Given the description of an element on the screen output the (x, y) to click on. 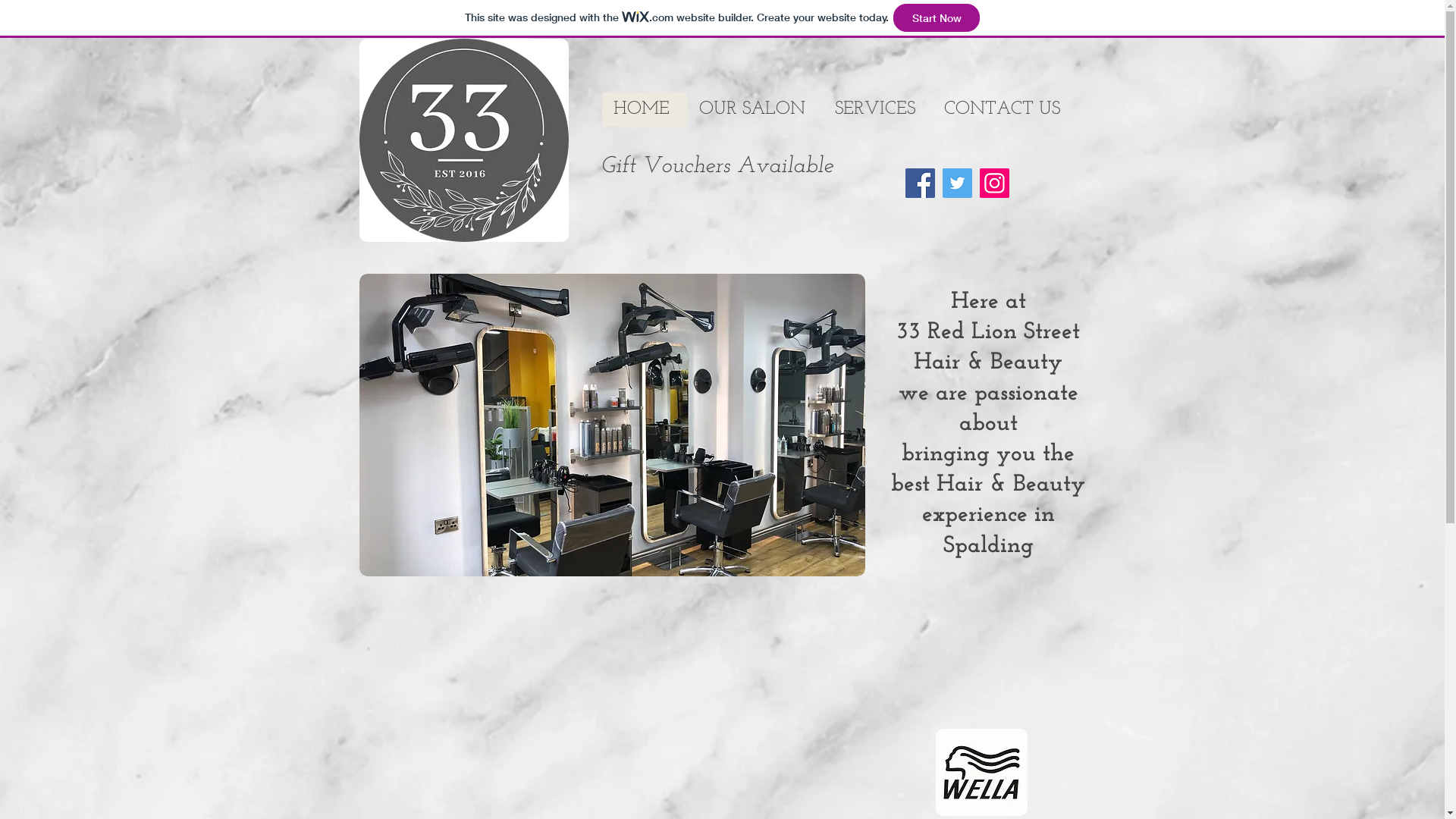
OUR SALON Element type: text (754, 109)
HOME Element type: text (644, 109)
IMG_4529.jpg Element type: hover (463, 139)
wella.jpg Element type: hover (981, 771)
CONTACT US Element type: text (1003, 109)
SERVICES Element type: text (876, 109)
